Given the description of an element on the screen output the (x, y) to click on. 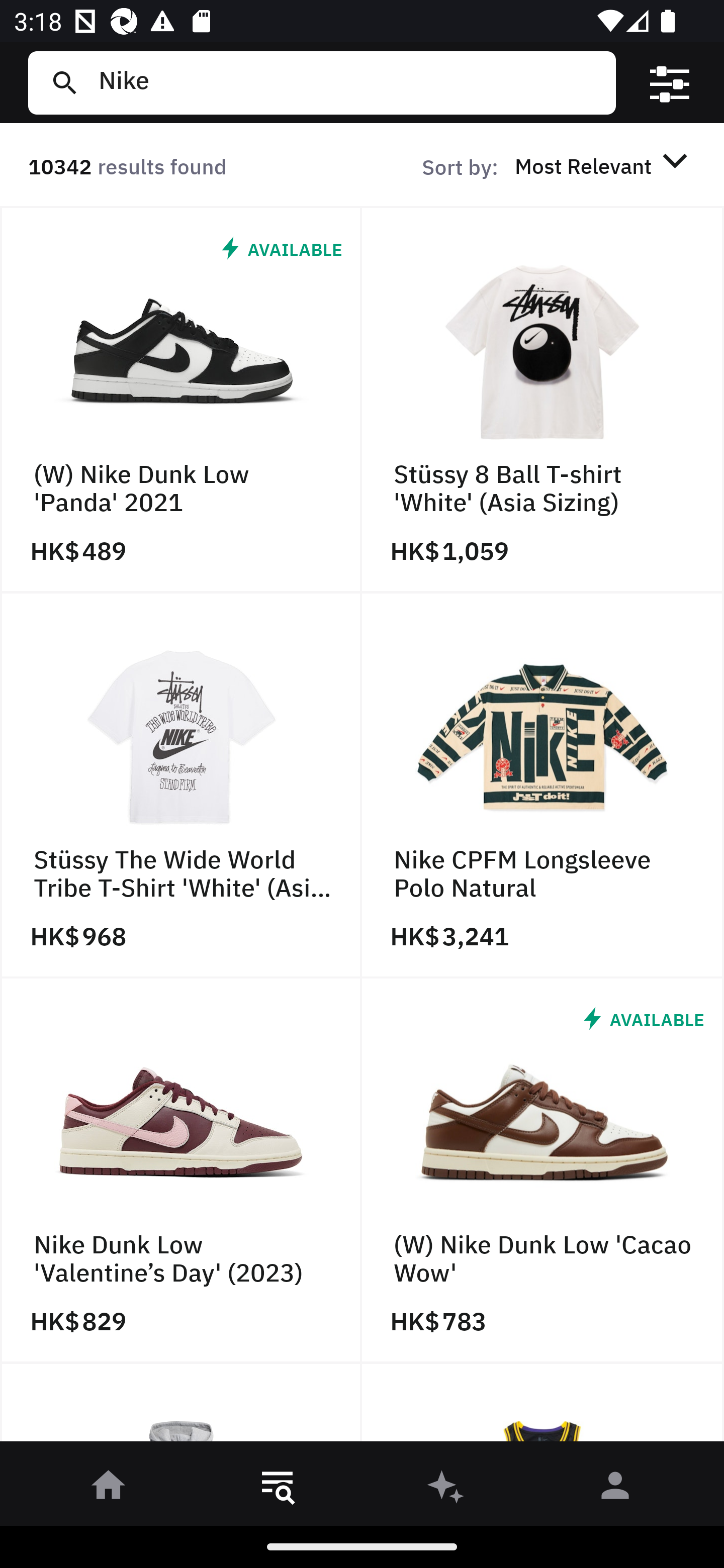
Nike (349, 82)
 (669, 82)
Most Relevant  (604, 165)
 AVAILABLE (W) Nike Dunk Low 'Panda' 2021 HK$ 489 (181, 399)
Nike CPFM Longsleeve Polo Natural HK$ 3,241 (543, 785)
Nike Dunk Low 'Valentine’s Day' (2023) HK$ 829 (181, 1171)
 AVAILABLE (W) Nike Dunk Low 'Cacao Wow' HK$ 783 (543, 1171)
󰋜 (108, 1488)
󱎸 (277, 1488)
󰫢 (446, 1488)
󰀄 (615, 1488)
